Given the description of an element on the screen output the (x, y) to click on. 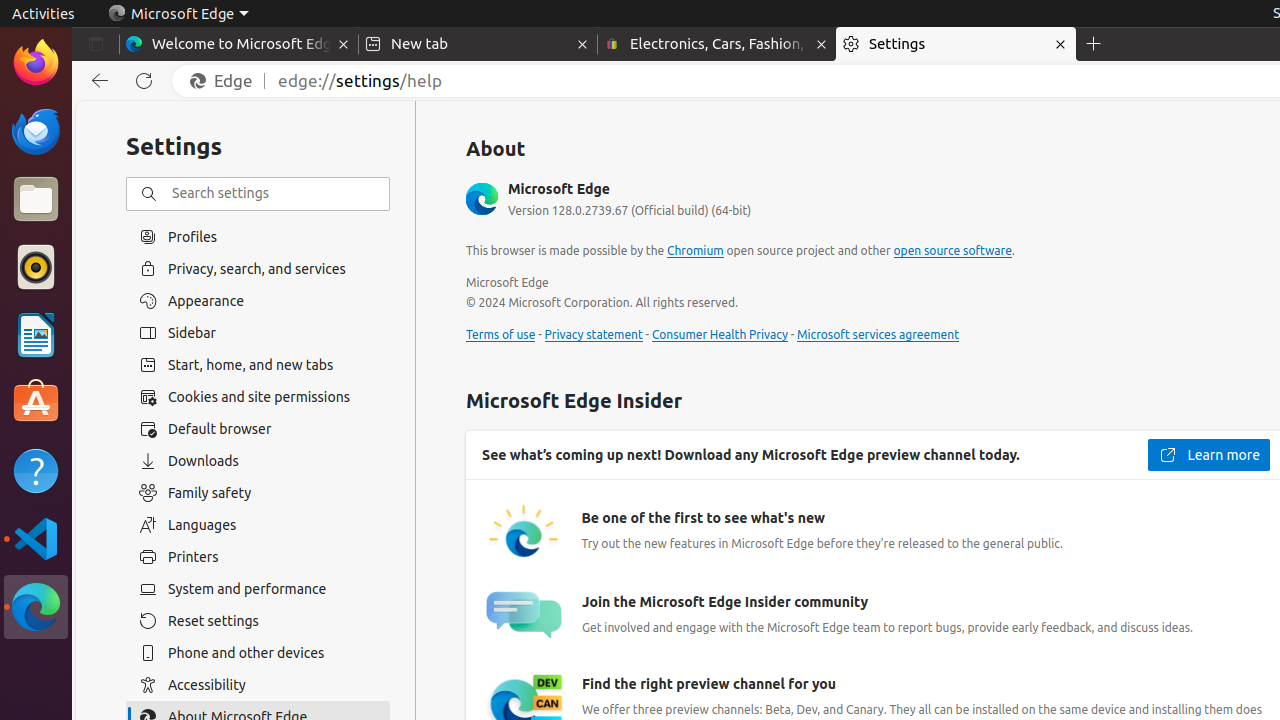
Phone and other devices Element type: tree-item (258, 653)
Consumer Health Privacy Element type: link (719, 335)
Close tab Element type: push-button (343, 44)
Help Element type: push-button (36, 470)
Firefox Web Browser Element type: push-button (36, 63)
